Given the description of an element on the screen output the (x, y) to click on. 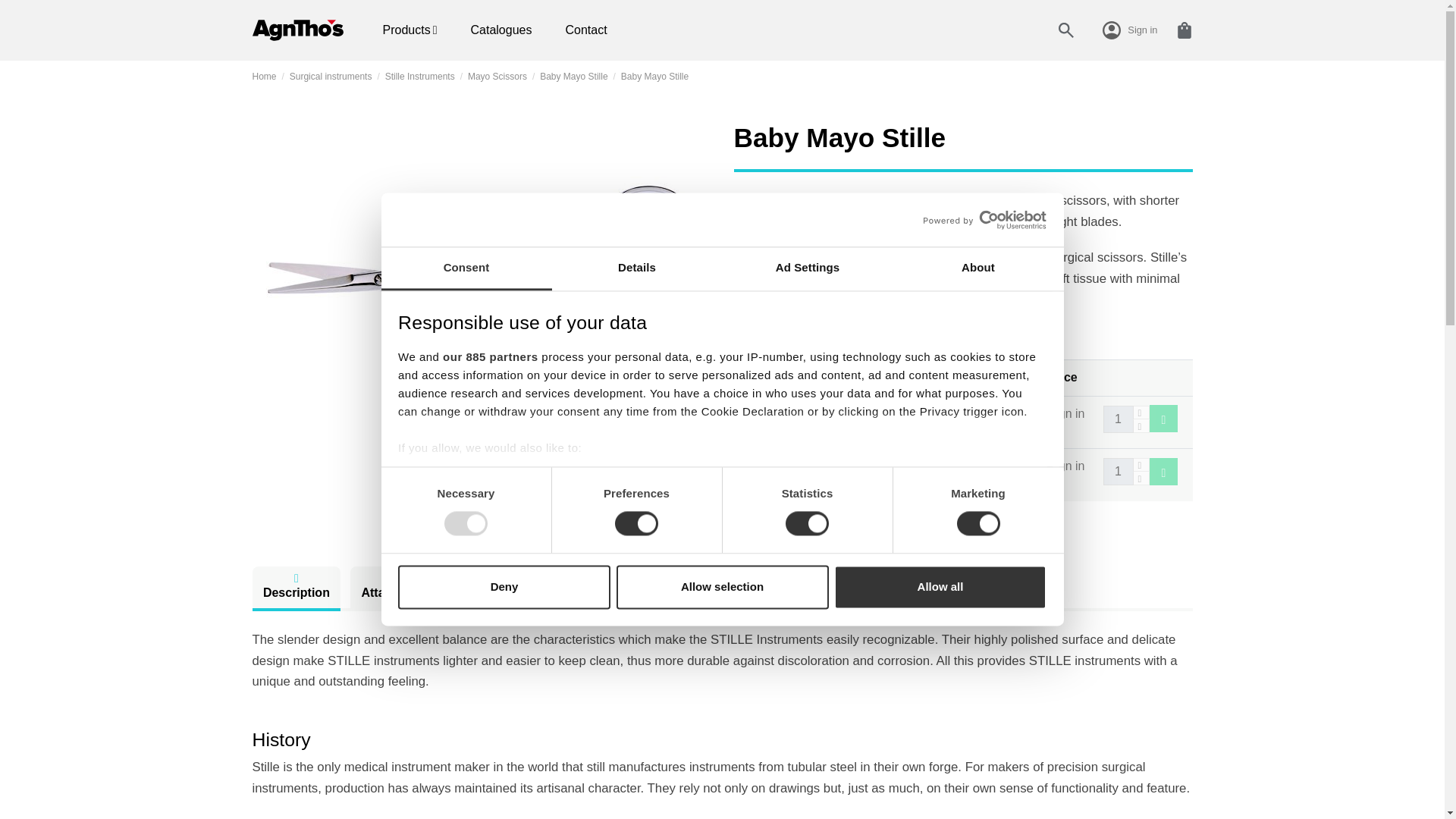
1 (1117, 471)
About (978, 268)
details section (927, 507)
our 885 partners (490, 356)
Consent (465, 268)
1 (1117, 418)
Ad Settings (807, 268)
Details (636, 268)
